Given the description of an element on the screen output the (x, y) to click on. 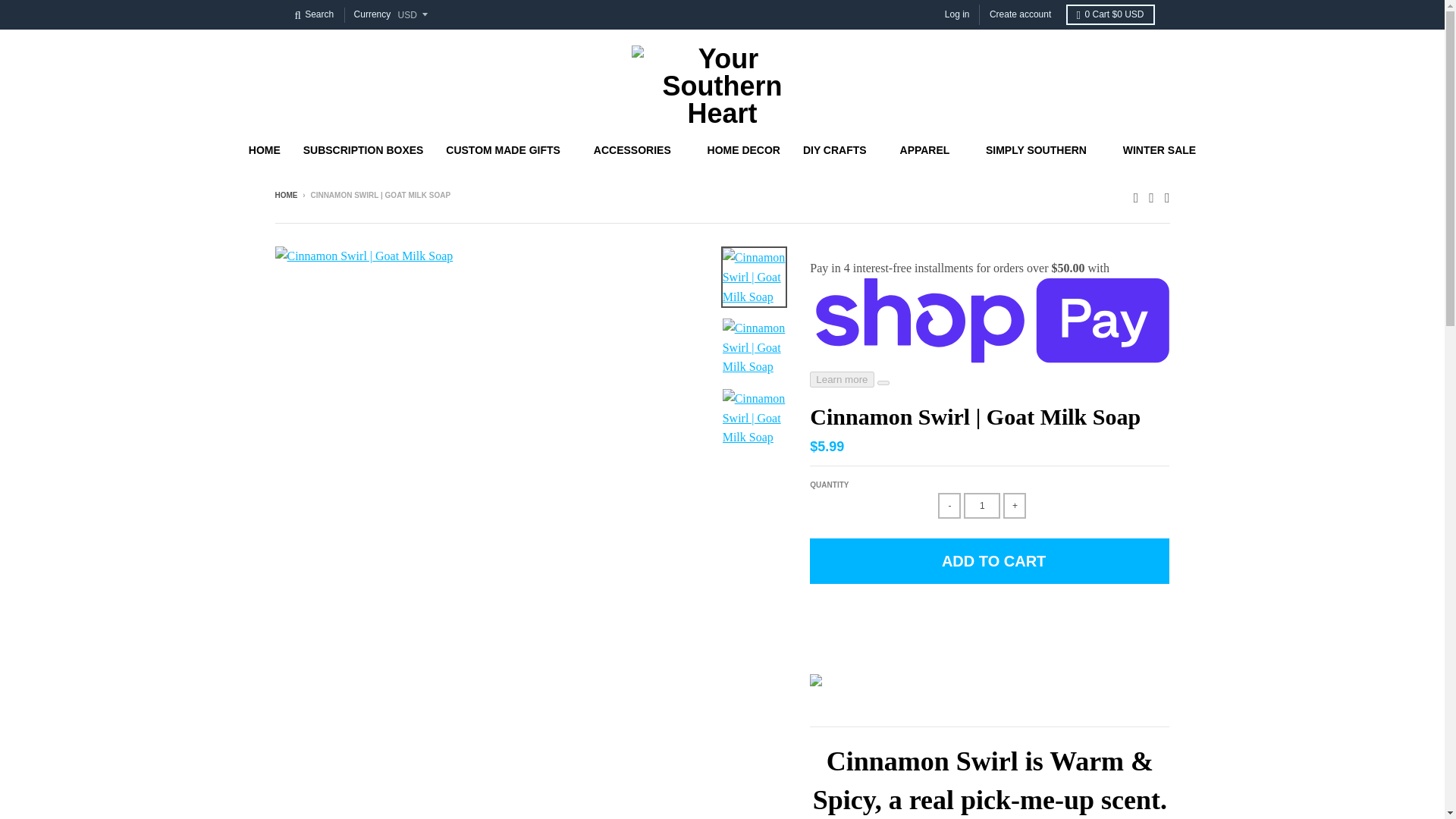
DIY CRAFTS (839, 149)
ACCESSORIES (638, 149)
Log in (957, 14)
Create account (1020, 14)
1 (981, 505)
CUSTOM MADE GIFTS (507, 149)
HOME (263, 149)
SUBSCRIPTION BOXES (363, 149)
HOME DECOR (743, 149)
Search (313, 14)
Back to the frontpage (286, 194)
